Given the description of an element on the screen output the (x, y) to click on. 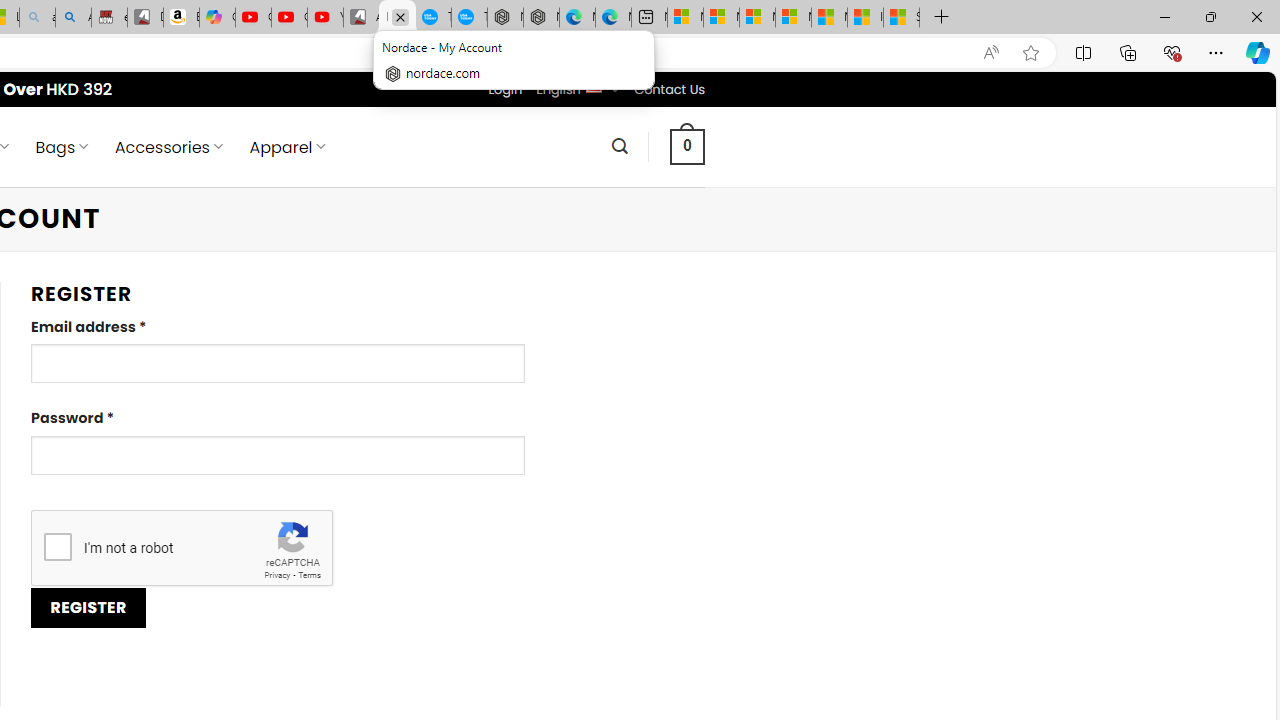
I Gained 20 Pounds of Muscle in 30 Days! | Watch (865, 17)
Copilot (217, 17)
Amazon Echo Dot PNG - Search Images (73, 17)
